Given the description of an element on the screen output the (x, y) to click on. 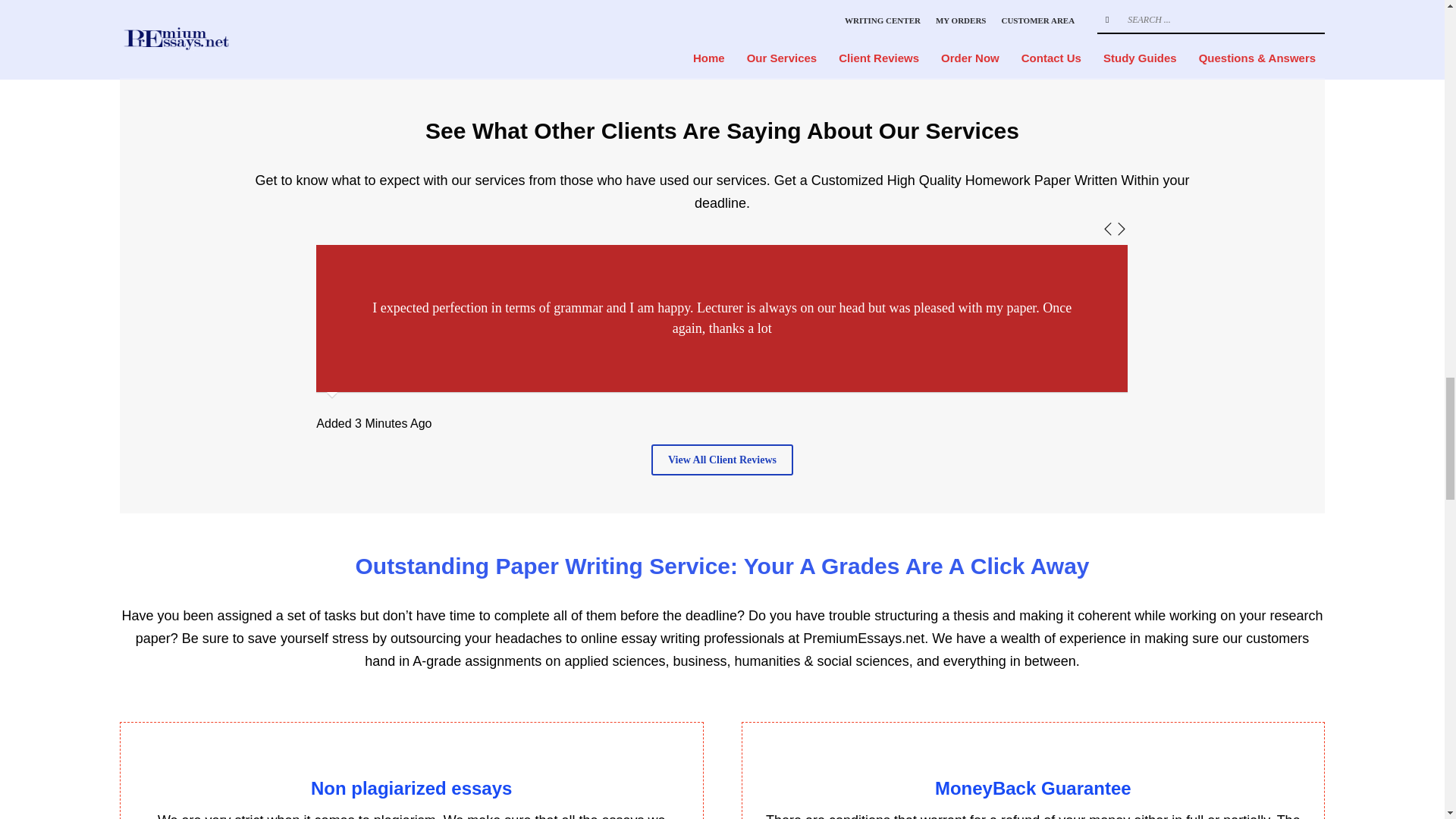
Risks (293, 251)
animal adoption agency (964, 596)
View All Client Reviews (721, 459)
